Given the description of an element on the screen output the (x, y) to click on. 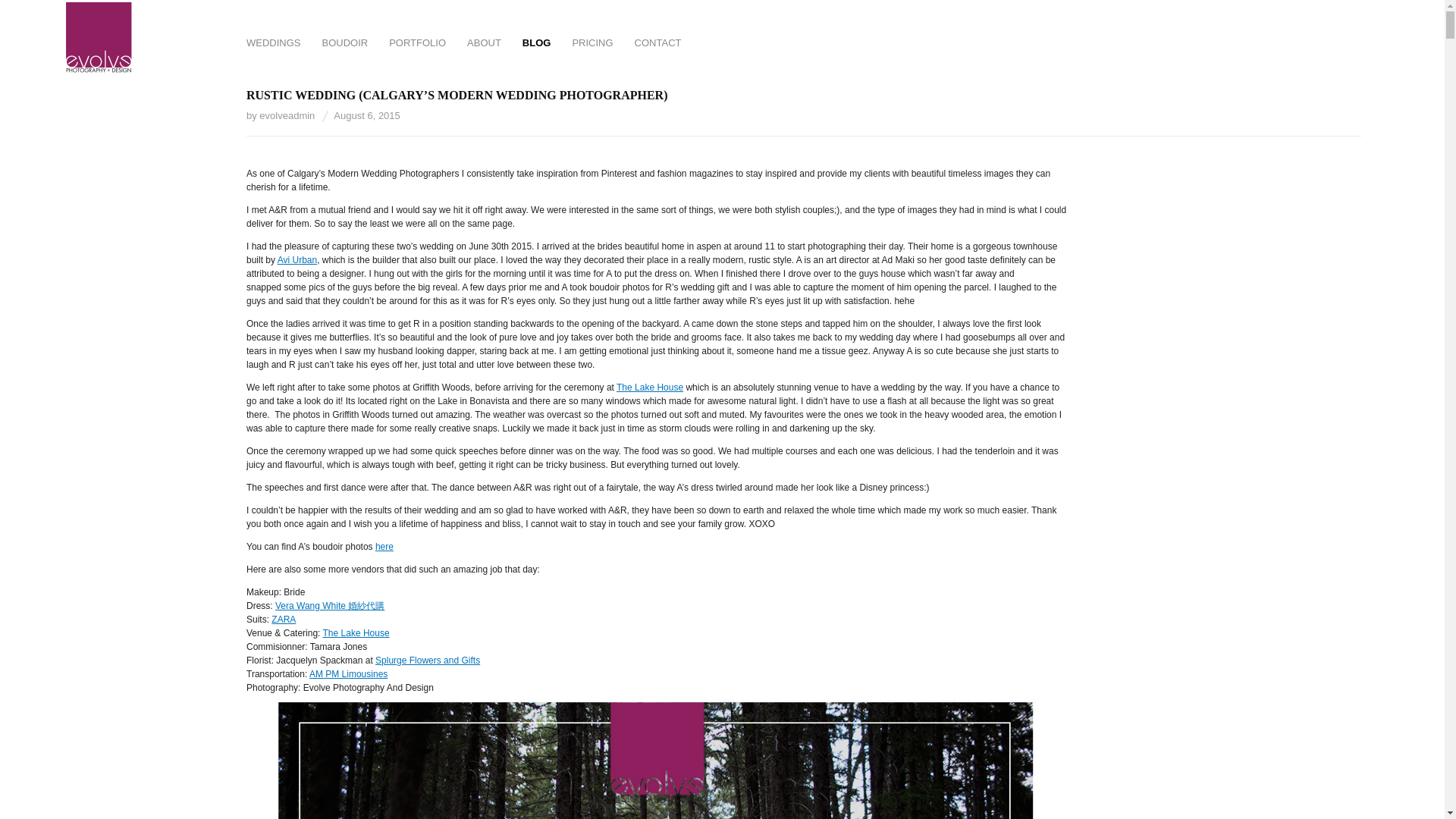
View all posts by evolveadmin (286, 115)
ZARA (282, 619)
The Lake House (648, 387)
CONTACT (657, 43)
ABOUT (484, 43)
here (384, 546)
The Lake House (356, 633)
BOUDOIR (344, 43)
WEDDINGS (273, 43)
Avi Urban (297, 259)
